Given the description of an element on the screen output the (x, y) to click on. 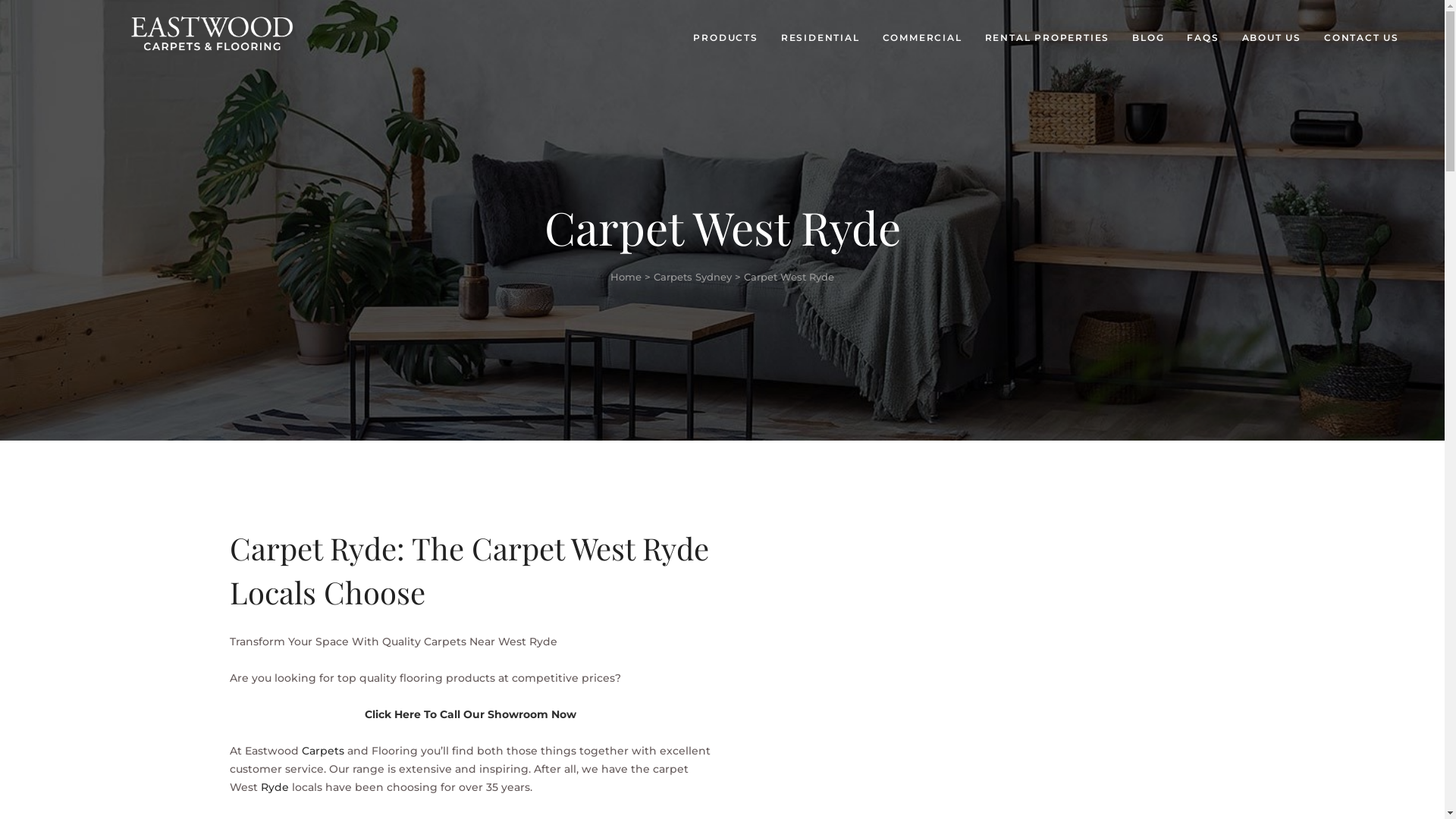
RESIDENTIAL Element type: text (820, 37)
CONTACT US Element type: text (1361, 37)
FAQS Element type: text (1202, 37)
Ryde Element type: text (274, 786)
Click Here To Call Our Showroom Now Element type: text (469, 714)
PRODUCTS Element type: text (724, 37)
Home Element type: text (625, 276)
ABOUT US Element type: text (1271, 37)
RENTAL PROPERTIES Element type: text (1047, 37)
Carpets Element type: text (322, 750)
BLOG Element type: text (1147, 37)
Carpets Sydney Element type: text (692, 276)
COMMERCIAL Element type: text (922, 37)
